Given the description of an element on the screen output the (x, y) to click on. 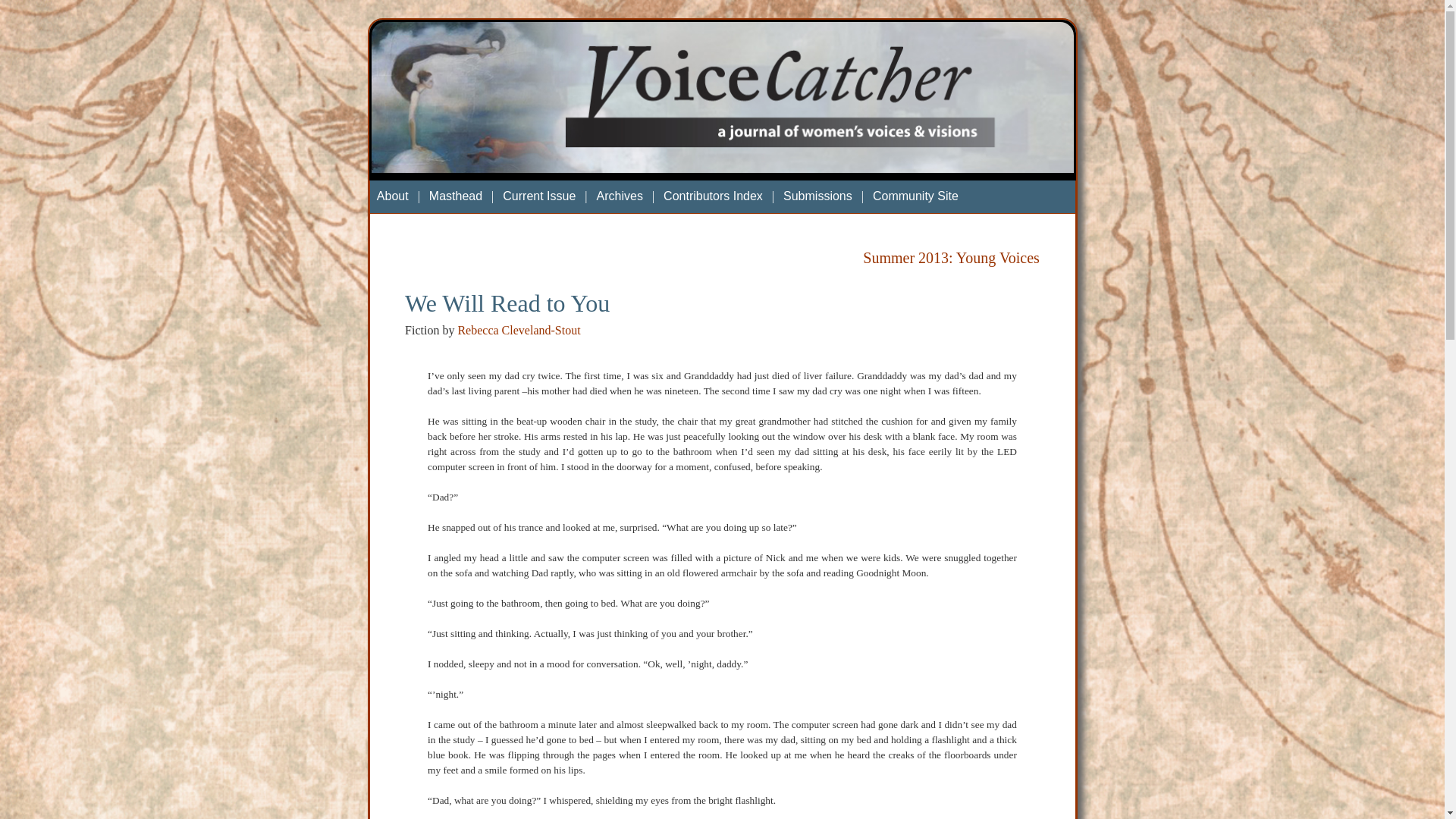
Masthead (455, 195)
About (393, 195)
Rebecca Cleveland-Stout (518, 329)
Current Issue (538, 195)
Community Site (915, 195)
Contributors Index (712, 195)
Submissions (817, 195)
Archives (619, 195)
